Given the description of an element on the screen output the (x, y) to click on. 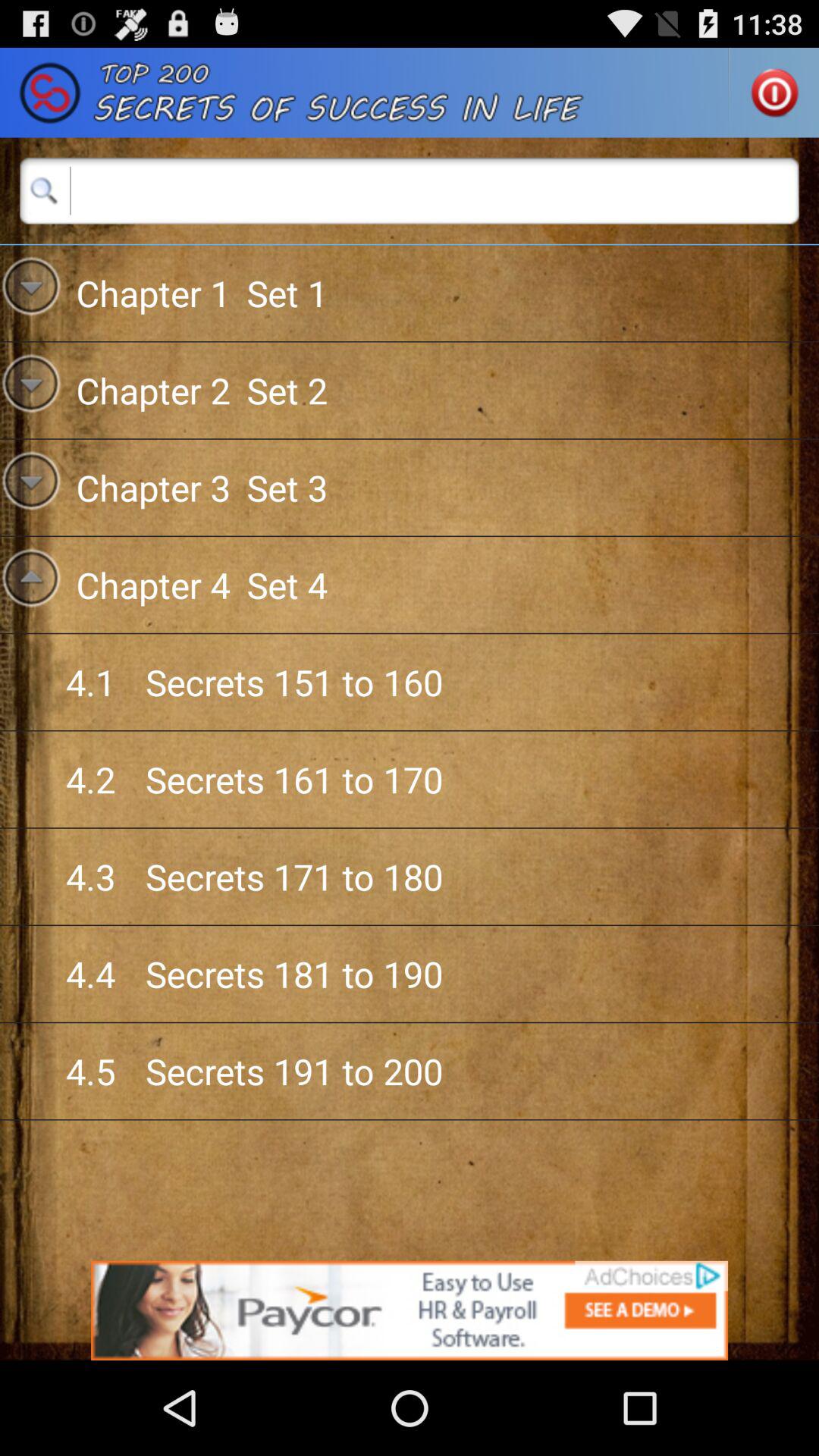
search button (409, 190)
